Given the description of an element on the screen output the (x, y) to click on. 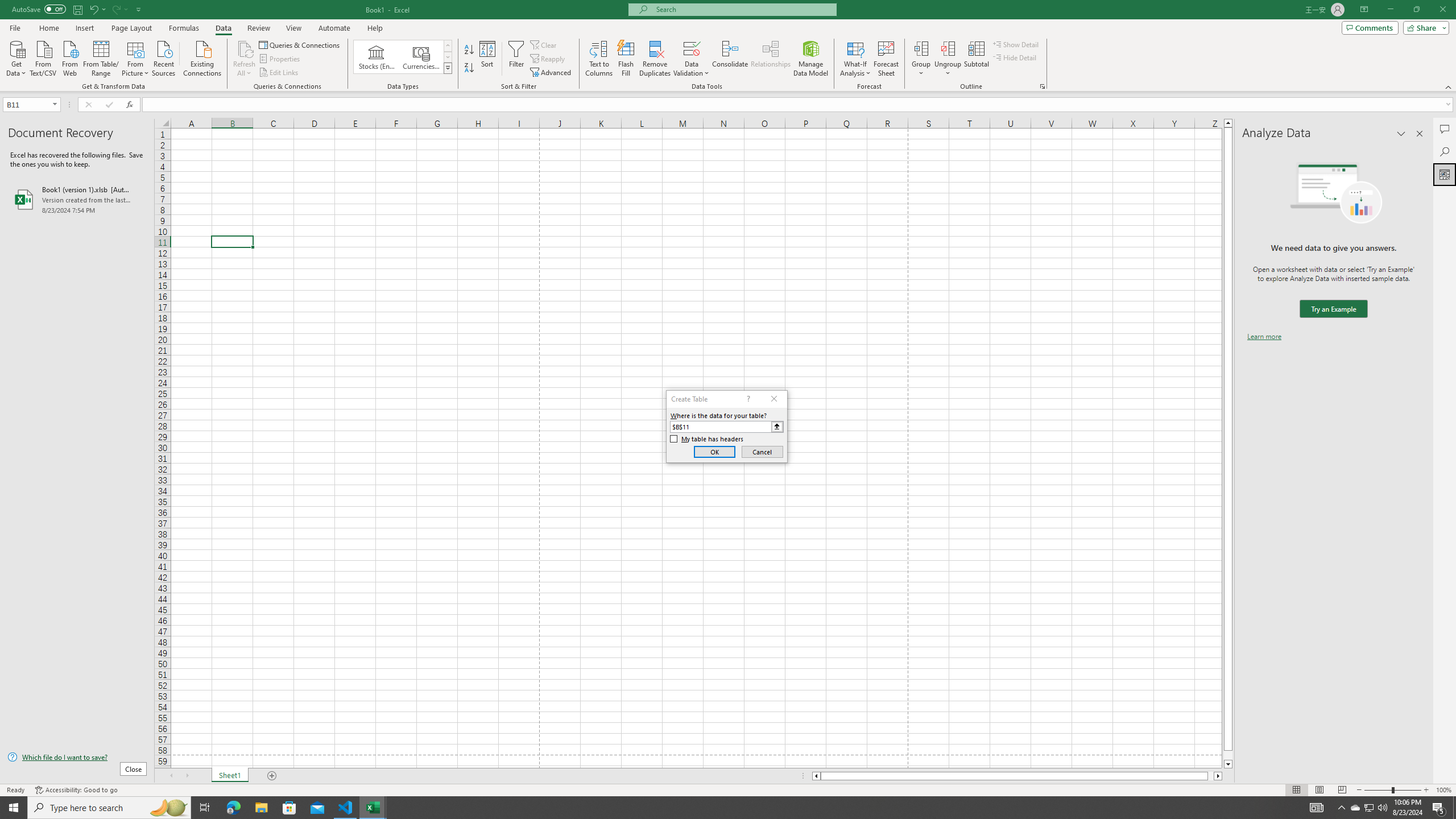
Remove Duplicates (654, 58)
Filter (515, 58)
Recent Sources (163, 57)
Data Types (448, 67)
Learn more (1264, 336)
Text to Columns... (598, 58)
